Given the description of an element on the screen output the (x, y) to click on. 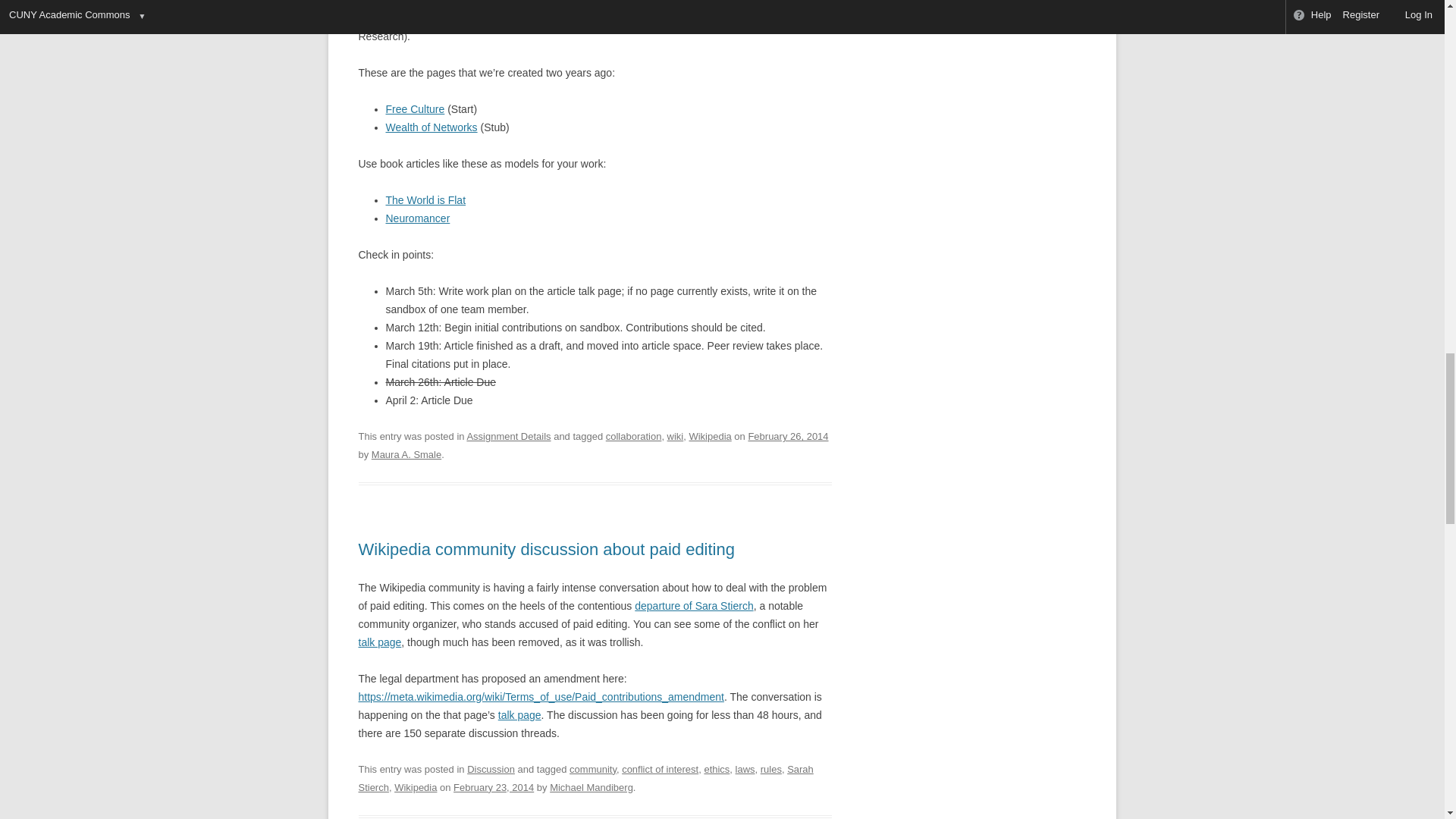
View all posts by Michael Mandiberg (591, 787)
View all posts by Maura A. Smale (406, 454)
10:12 am (493, 787)
1:49 pm (788, 436)
